Given the description of an element on the screen output the (x, y) to click on. 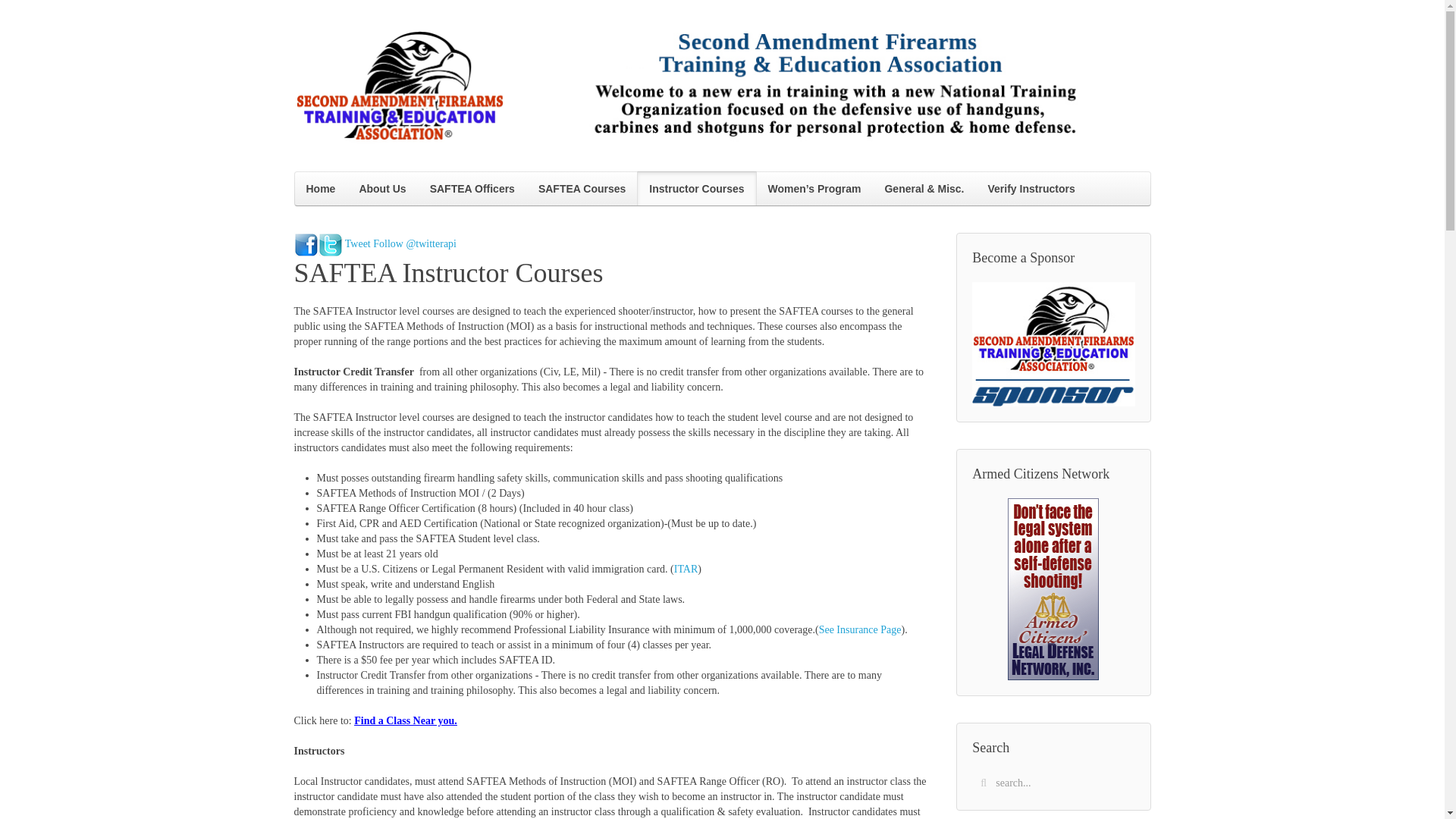
Home (320, 188)
Facebook (306, 244)
About Us (381, 188)
SAFTEA Officers (472, 188)
SAFTEA Courses (581, 188)
Instructor Courses (696, 188)
Twitter (330, 244)
